Given the description of an element on the screen output the (x, y) to click on. 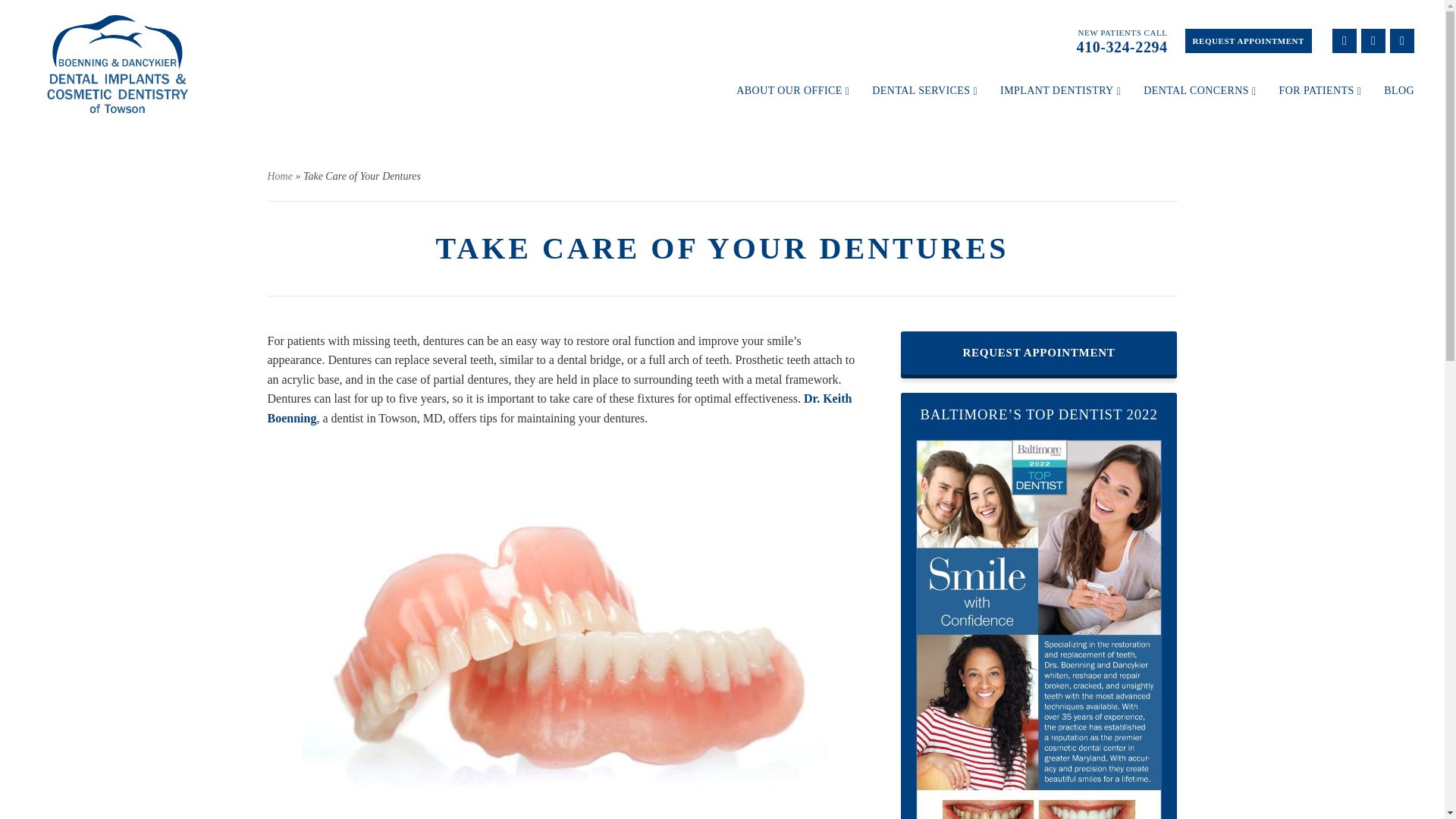
DENTAL SERVICES (924, 90)
ABOUT OUR OFFICE (792, 90)
REQUEST APPOINTMENT (1248, 40)
IMPLANT DENTISTRY (1060, 90)
DENTAL CONCERNS (1198, 90)
